Given the description of an element on the screen output the (x, y) to click on. 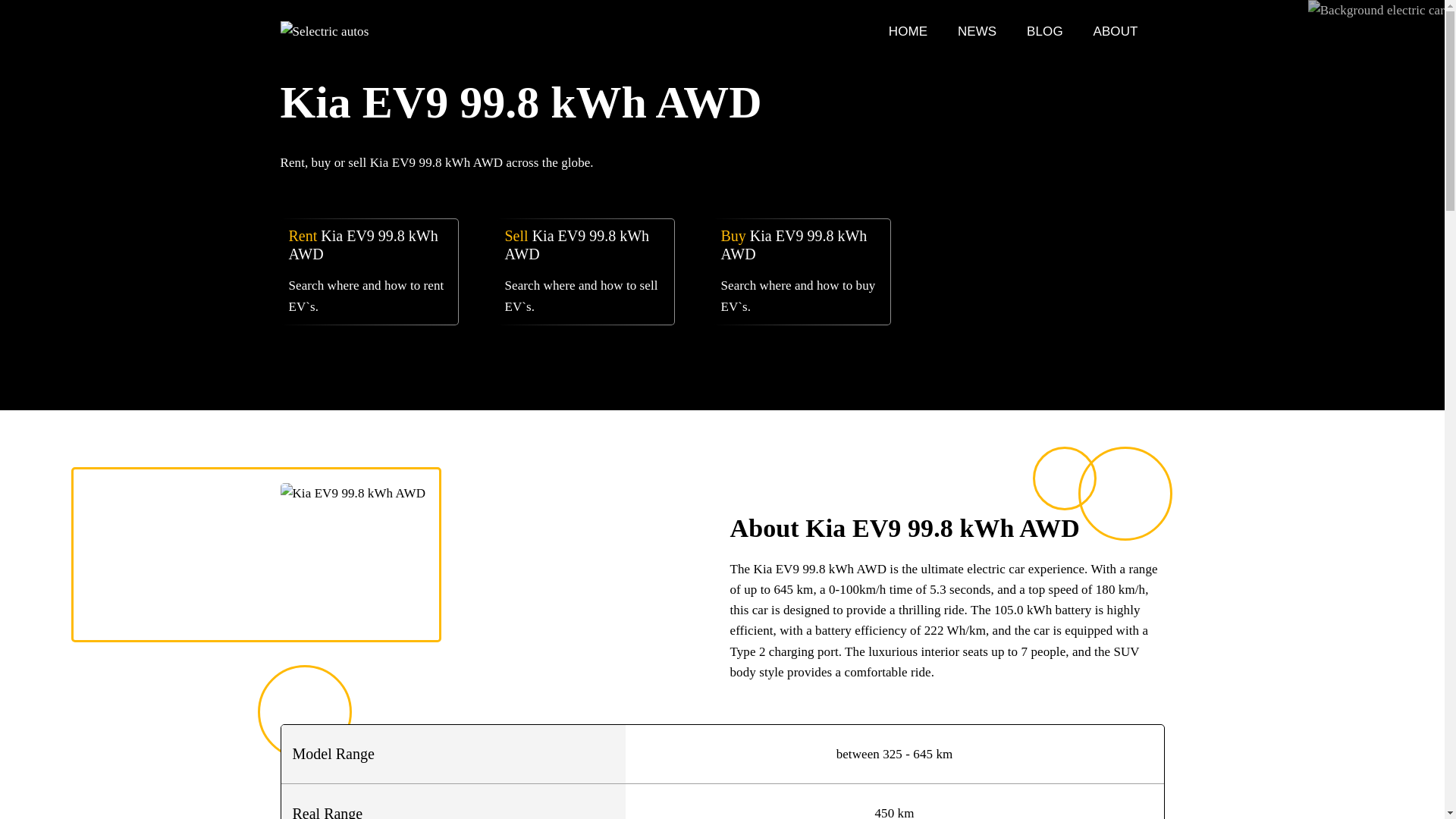
NEWS (979, 31)
ABOUT (1115, 31)
HOME (909, 31)
BLOG (1045, 31)
